Given the description of an element on the screen output the (x, y) to click on. 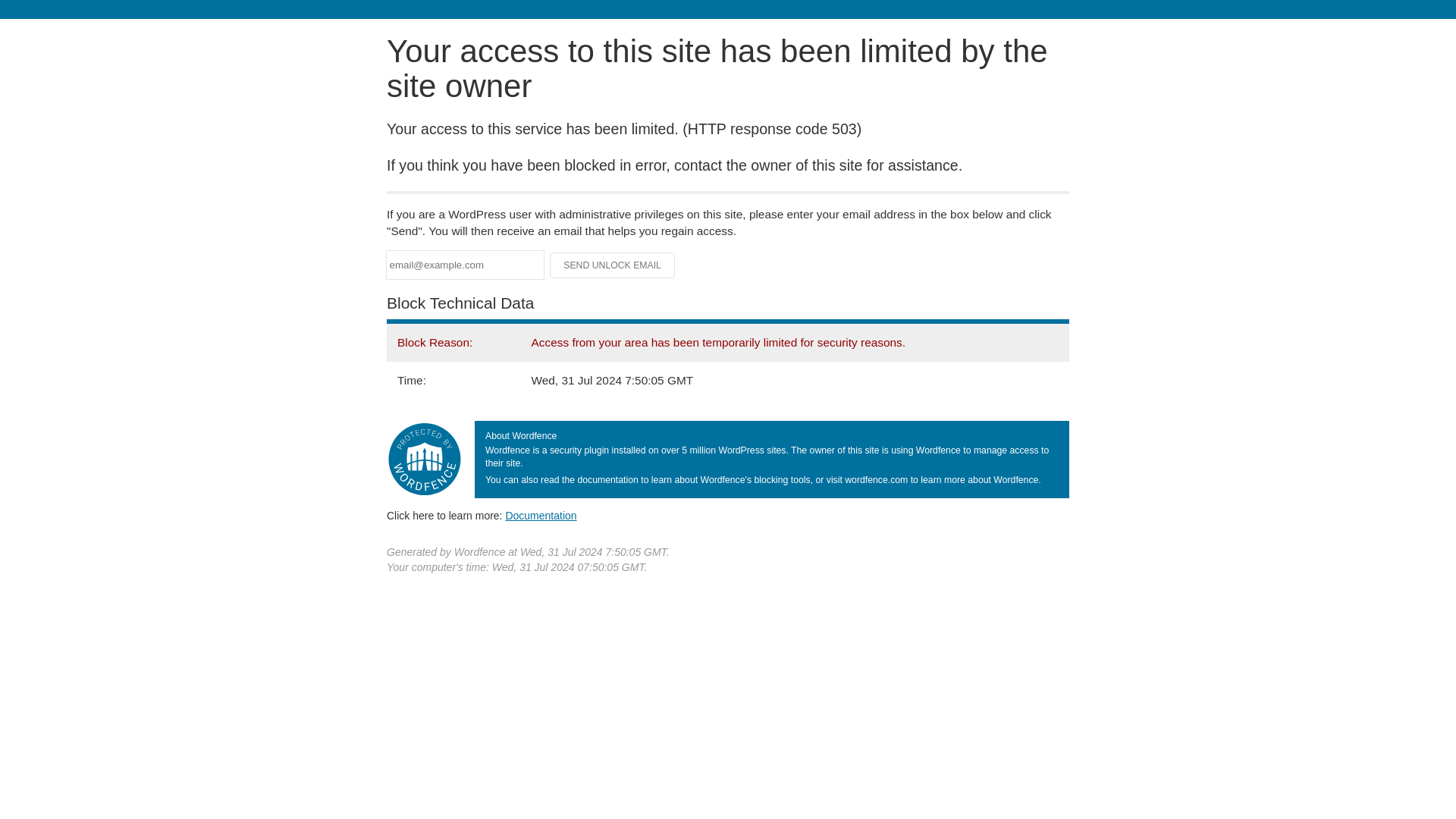
Send Unlock Email (612, 265)
Documentation (540, 515)
Send Unlock Email (612, 265)
